Given the description of an element on the screen output the (x, y) to click on. 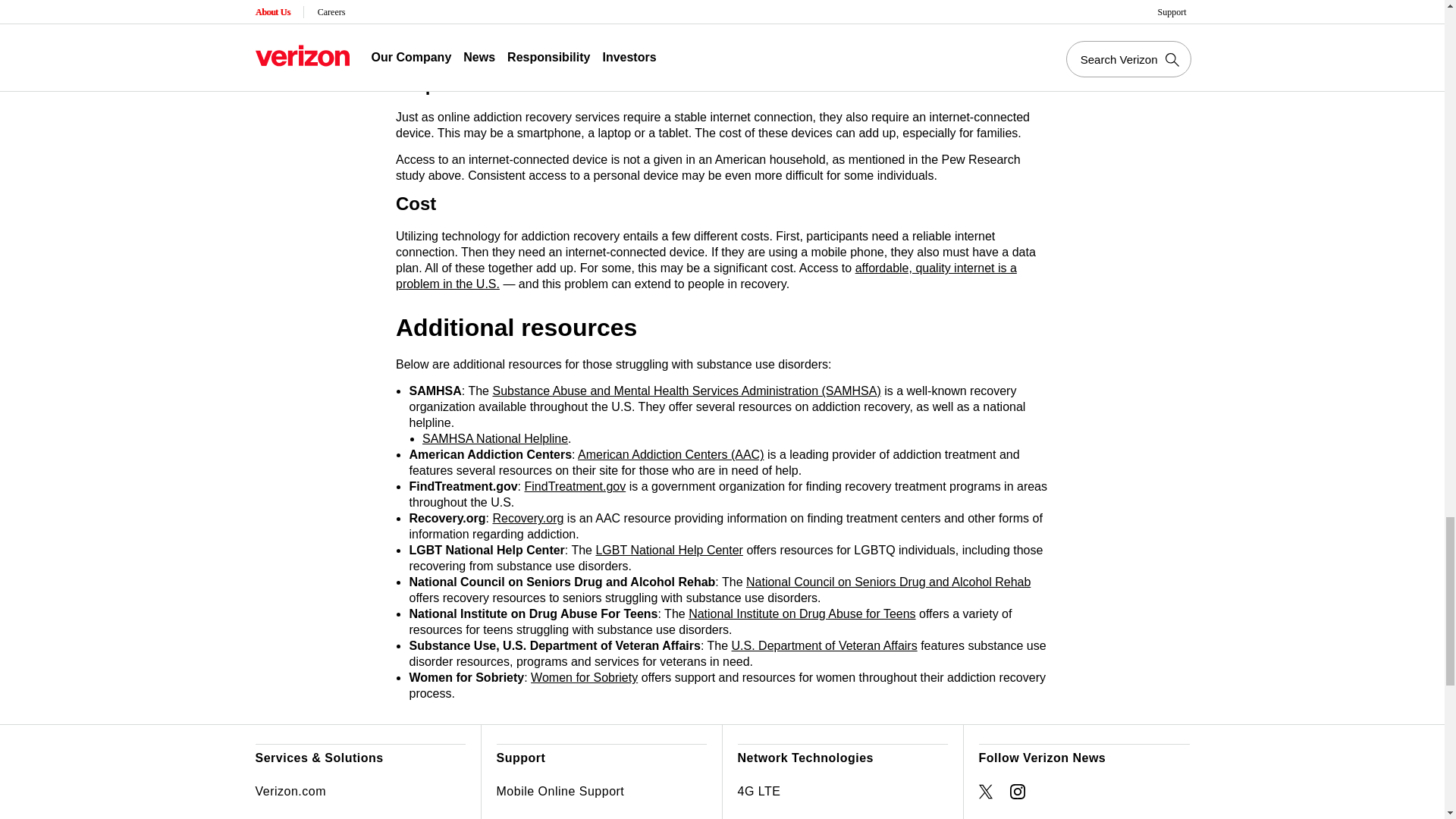
Opens New Window (1017, 791)
Opens New Window (985, 791)
